Given the description of an element on the screen output the (x, y) to click on. 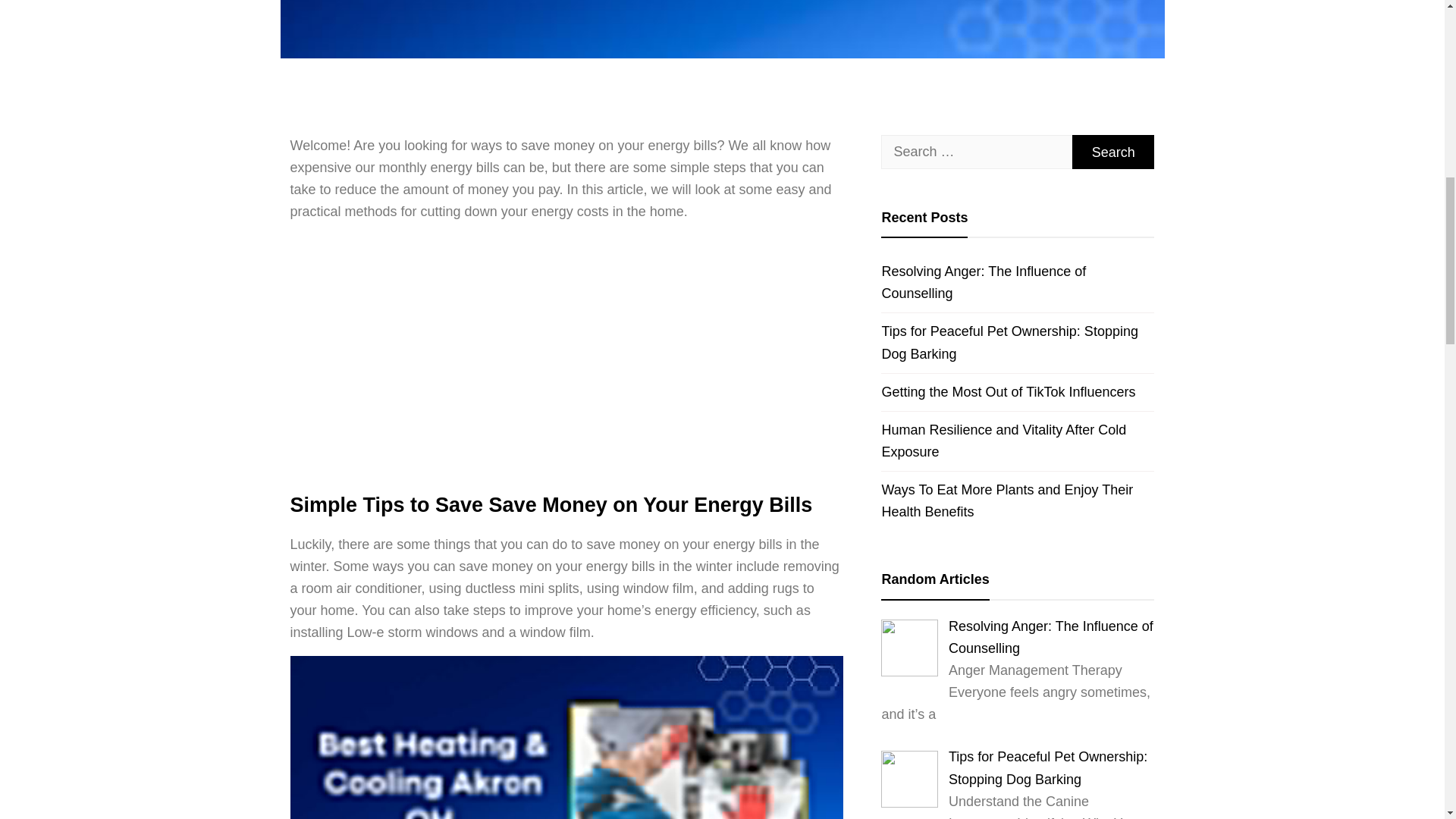
Resolving Anger: The Influence of Counselling (1051, 637)
YouTube video player (501, 354)
Resolving Anger: The Influence of Counselling (1017, 282)
Search (1112, 151)
Search (1112, 151)
Search (1112, 151)
Tips for Peaceful Pet Ownership: Stopping Dog Barking (1048, 767)
Ways To Eat More Plants and Enjoy Their Health Benefits (1017, 500)
Human Resilience and Vitality After Cold Exposure (1017, 440)
Tips for Peaceful Pet Ownership: Stopping Dog Barking (1017, 342)
Getting the Most Out of TikTok Influencers (1017, 392)
